Given the description of an element on the screen output the (x, y) to click on. 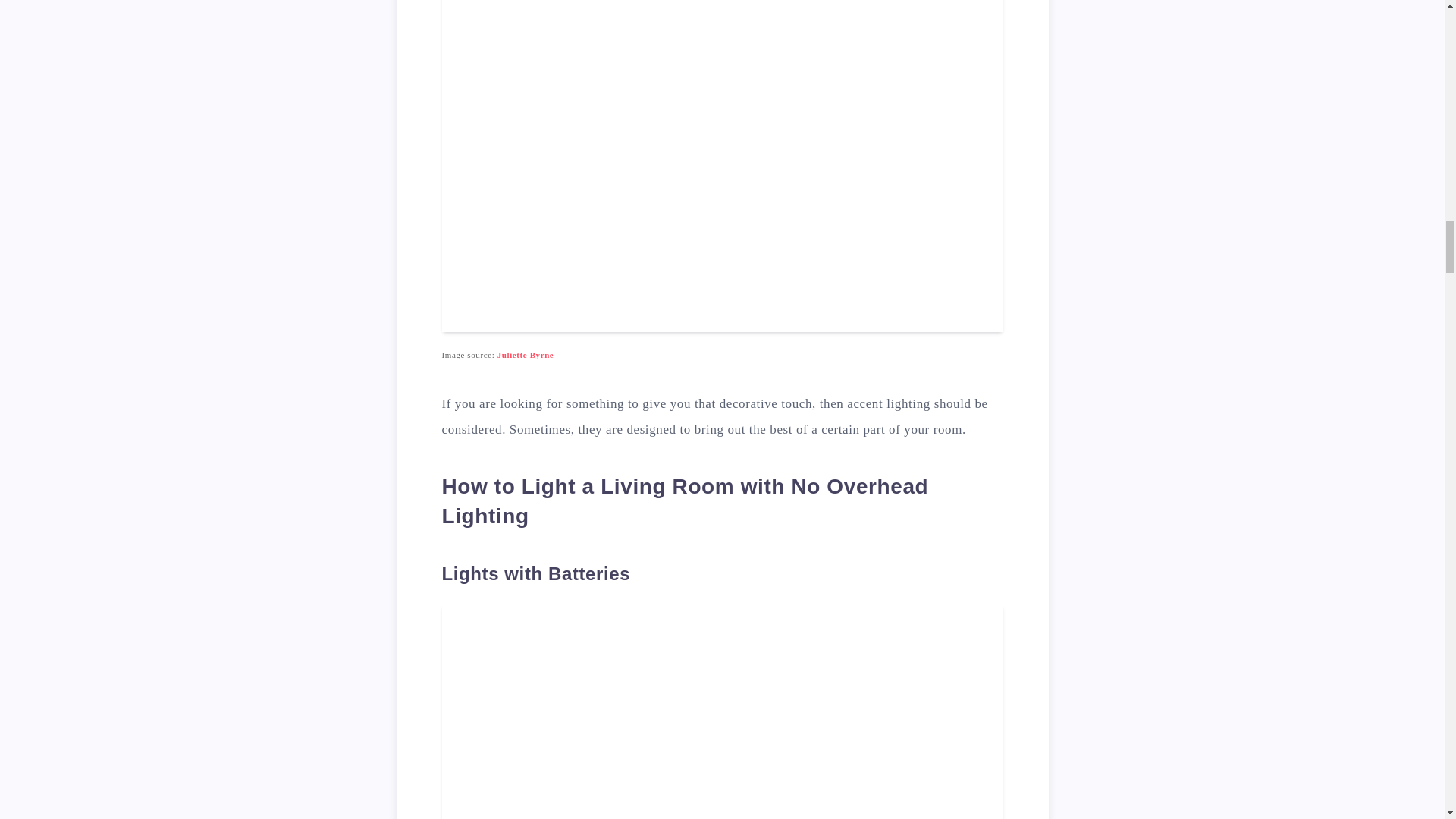
Juliette Byrne (525, 354)
